Given the description of an element on the screen output the (x, y) to click on. 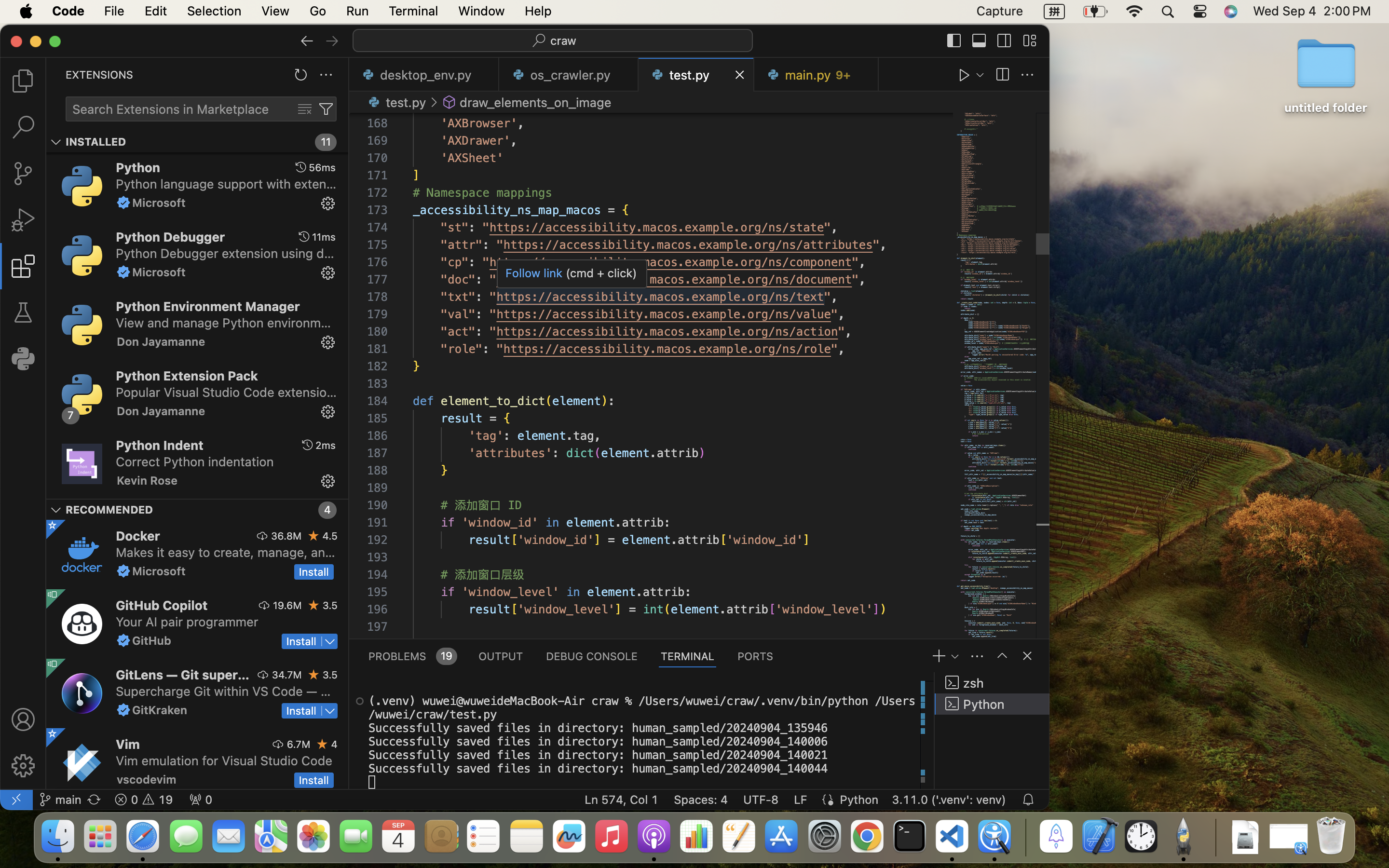
19.6M Element type: AXStaticText (286, 604)
Docker Element type: AXStaticText (137, 535)
craw Element type: AXStaticText (563, 40)
11ms Element type: AXStaticText (323, 236)
1  Element type: AXRadioButton (23, 266)
